Given the description of an element on the screen output the (x, y) to click on. 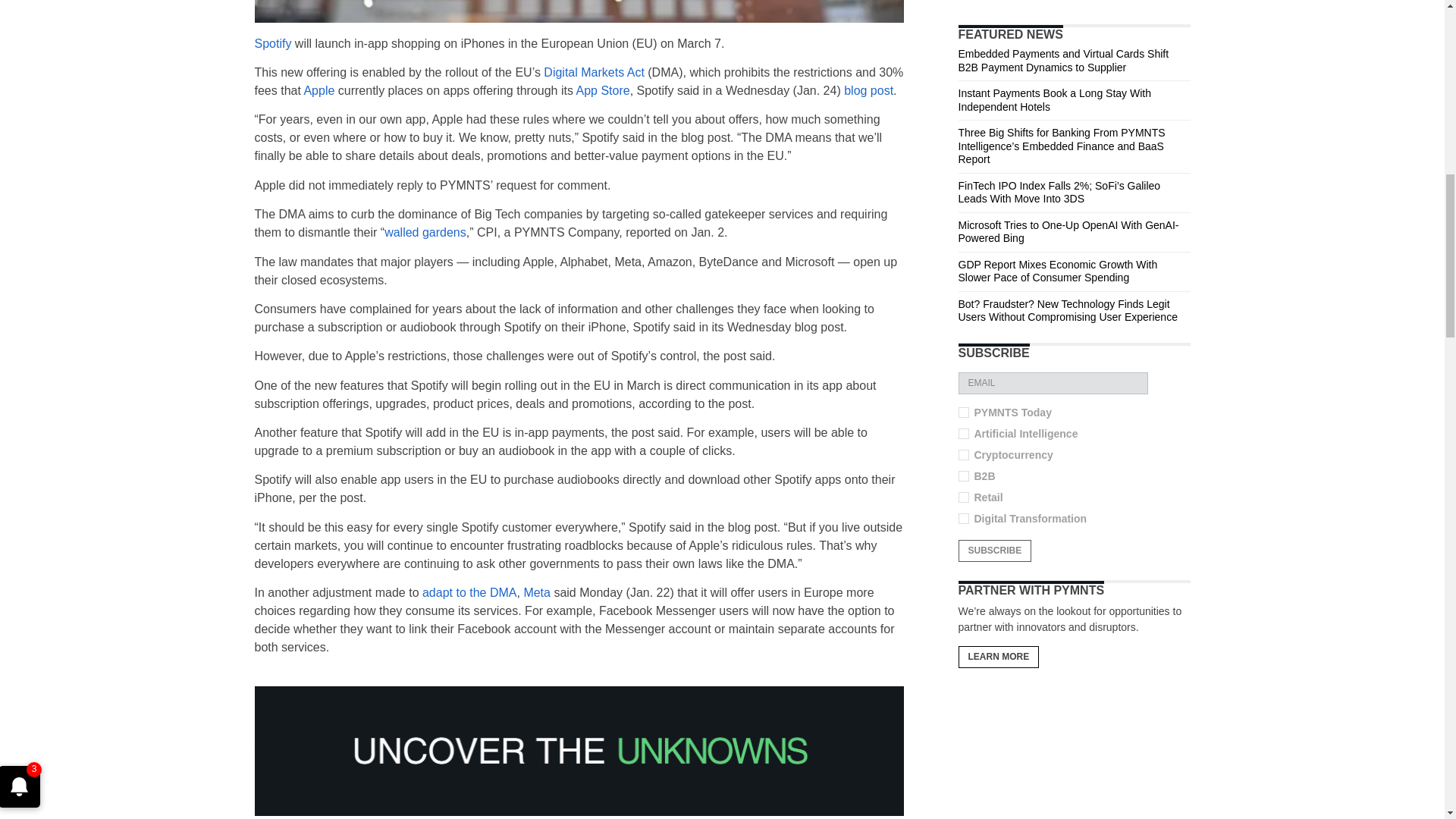
1 (963, 433)
1 (963, 412)
1 (963, 518)
1 (963, 497)
1 (963, 454)
1 (963, 475)
